Given the description of an element on the screen output the (x, y) to click on. 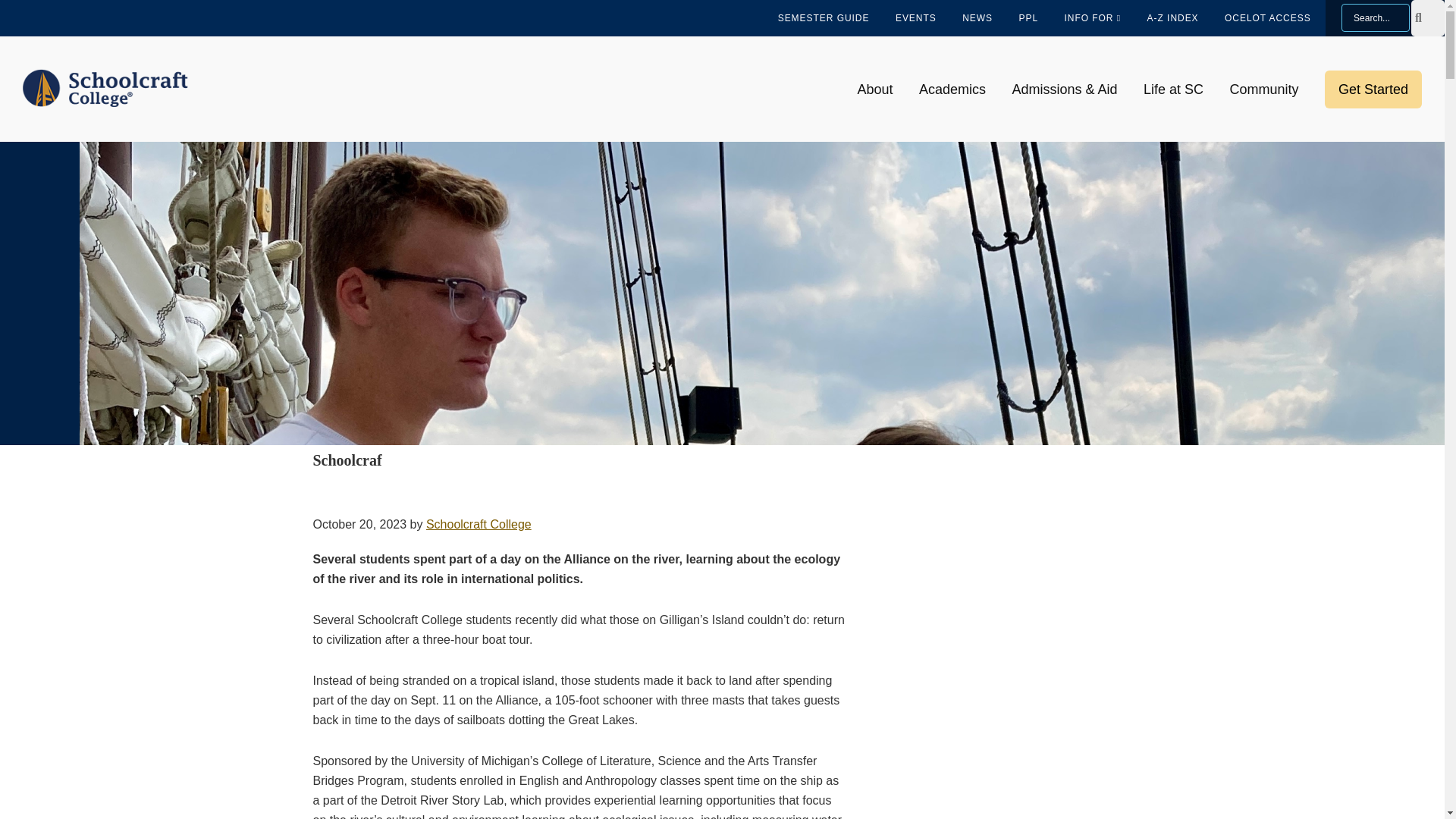
PPL (1028, 18)
Schoolcraft College (478, 523)
Academics (952, 89)
OCELOT ACCESS (1267, 18)
Get Started (1373, 89)
A-Z INDEX (1172, 18)
NEWS (977, 18)
Community (1262, 89)
EVENTS (915, 18)
Life at SC (1173, 89)
About (874, 89)
SEMESTER GUIDE (823, 18)
INFO FOR (1092, 18)
This opens the Personal and Professional Learning website (1028, 18)
